Given the description of an element on the screen output the (x, y) to click on. 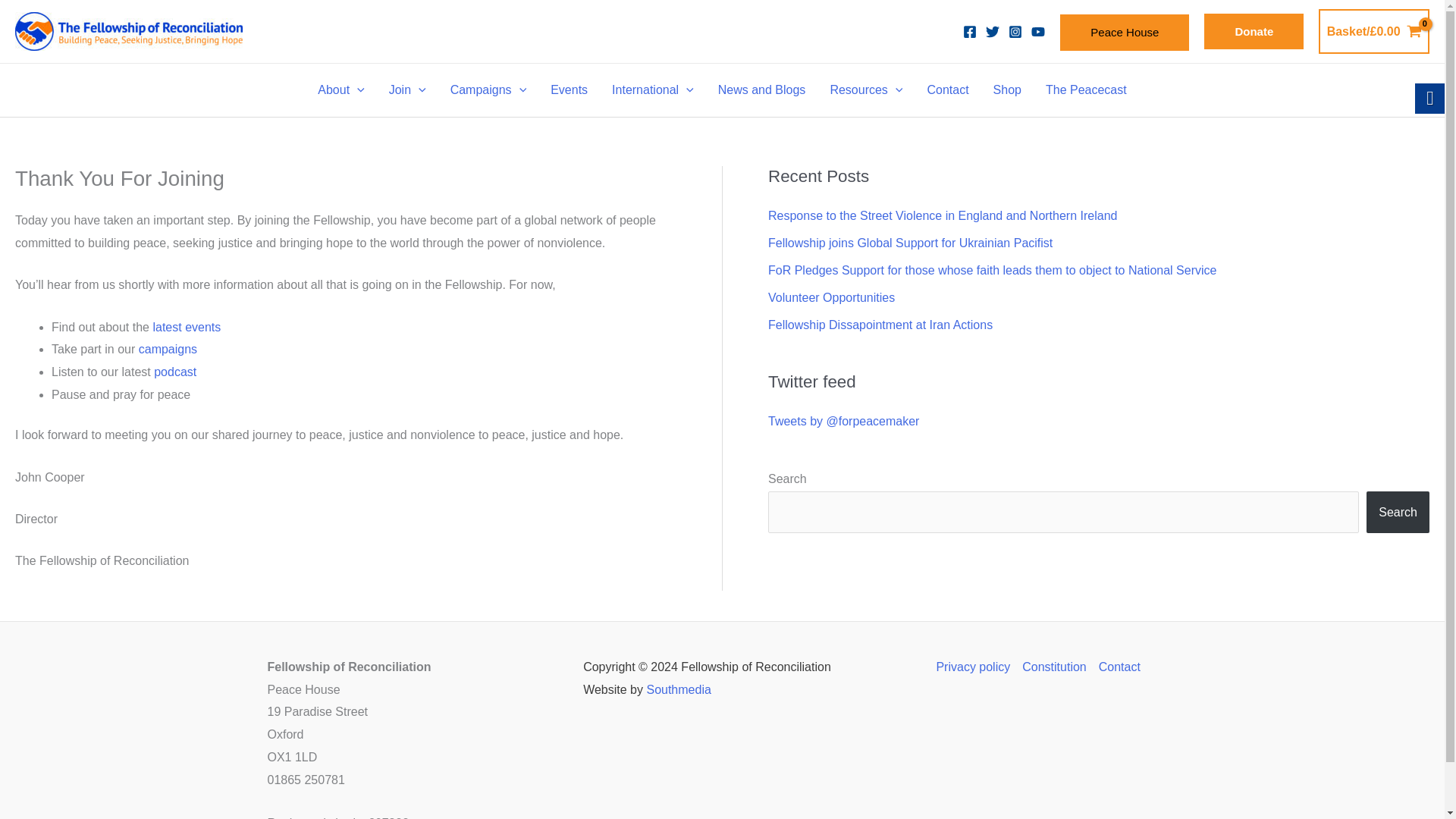
Join (407, 90)
Campaigns (488, 90)
Events (568, 90)
International (652, 90)
Donate (1253, 31)
Peace House (1124, 32)
About (340, 90)
News and Blogs (762, 90)
